Given the description of an element on the screen output the (x, y) to click on. 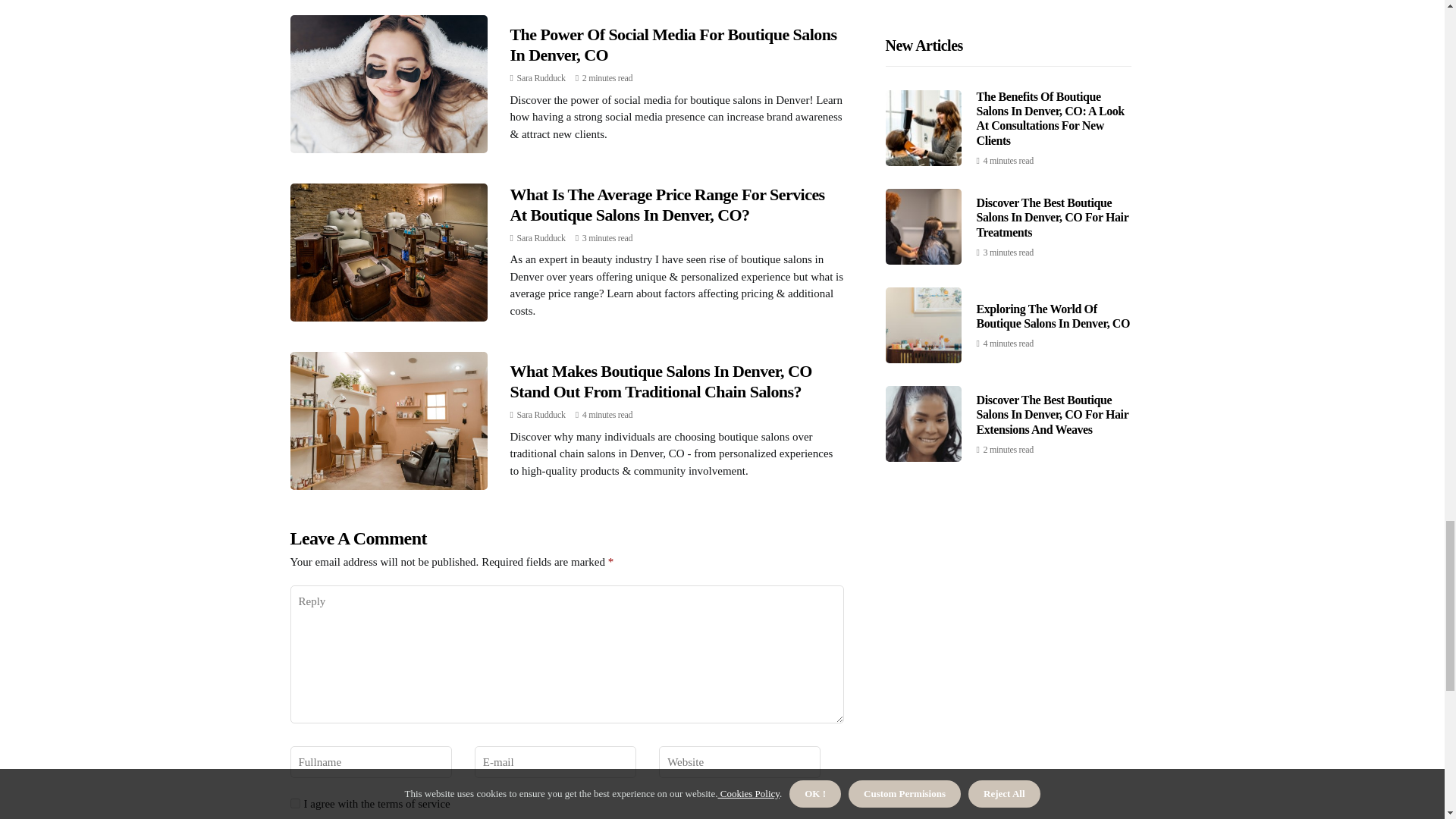
Sara Rudduck (541, 237)
Sara Rudduck (541, 414)
The Power Of Social Media For Boutique Salons In Denver, CO (672, 44)
Sara Rudduck (541, 77)
Posts by Sara Rudduck (541, 237)
yes (294, 803)
Posts by Sara Rudduck (541, 77)
Posts by Sara Rudduck (541, 414)
